Given the description of an element on the screen output the (x, y) to click on. 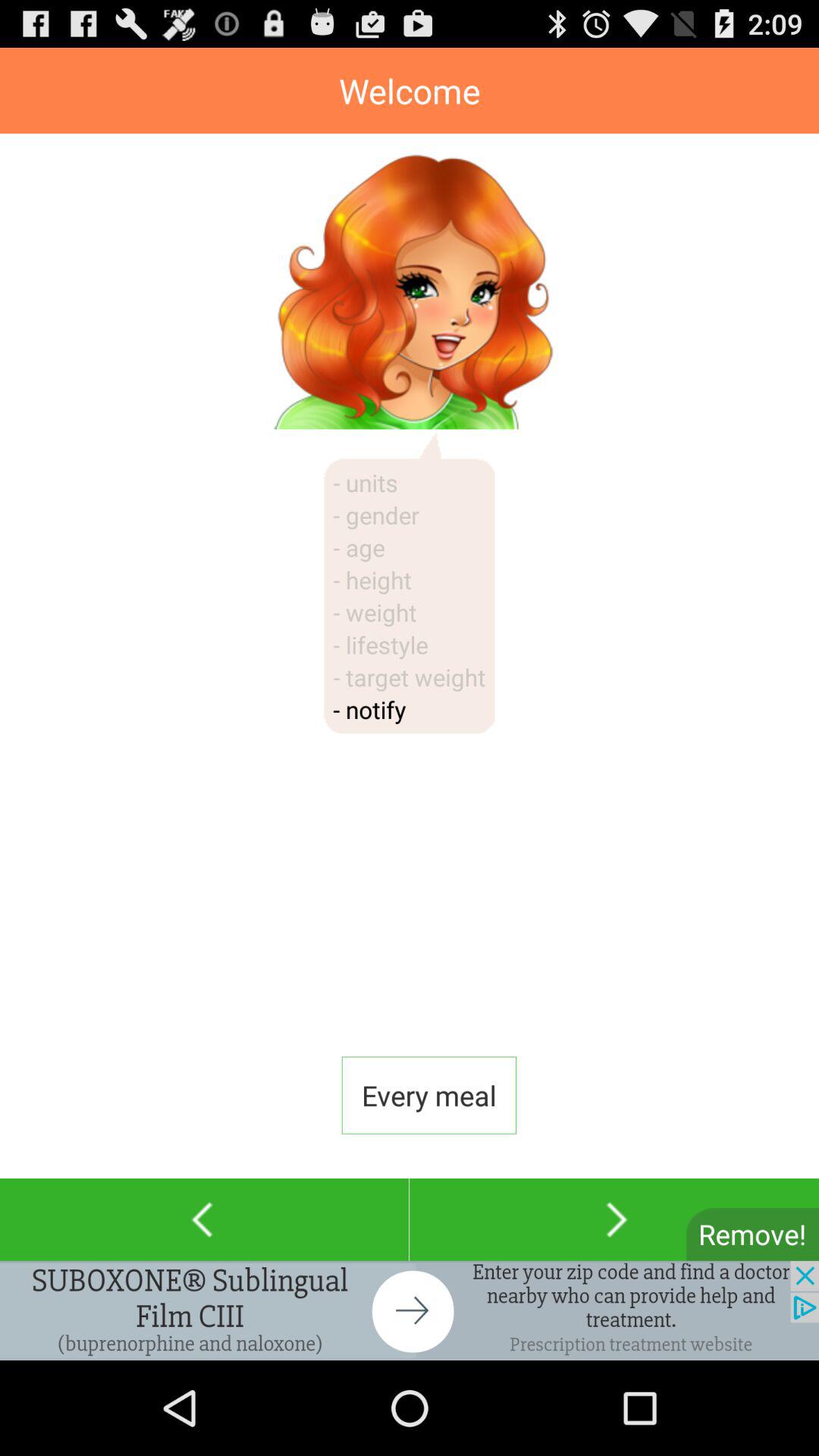
go to advertisement (409, 1310)
